Given the description of an element on the screen output the (x, y) to click on. 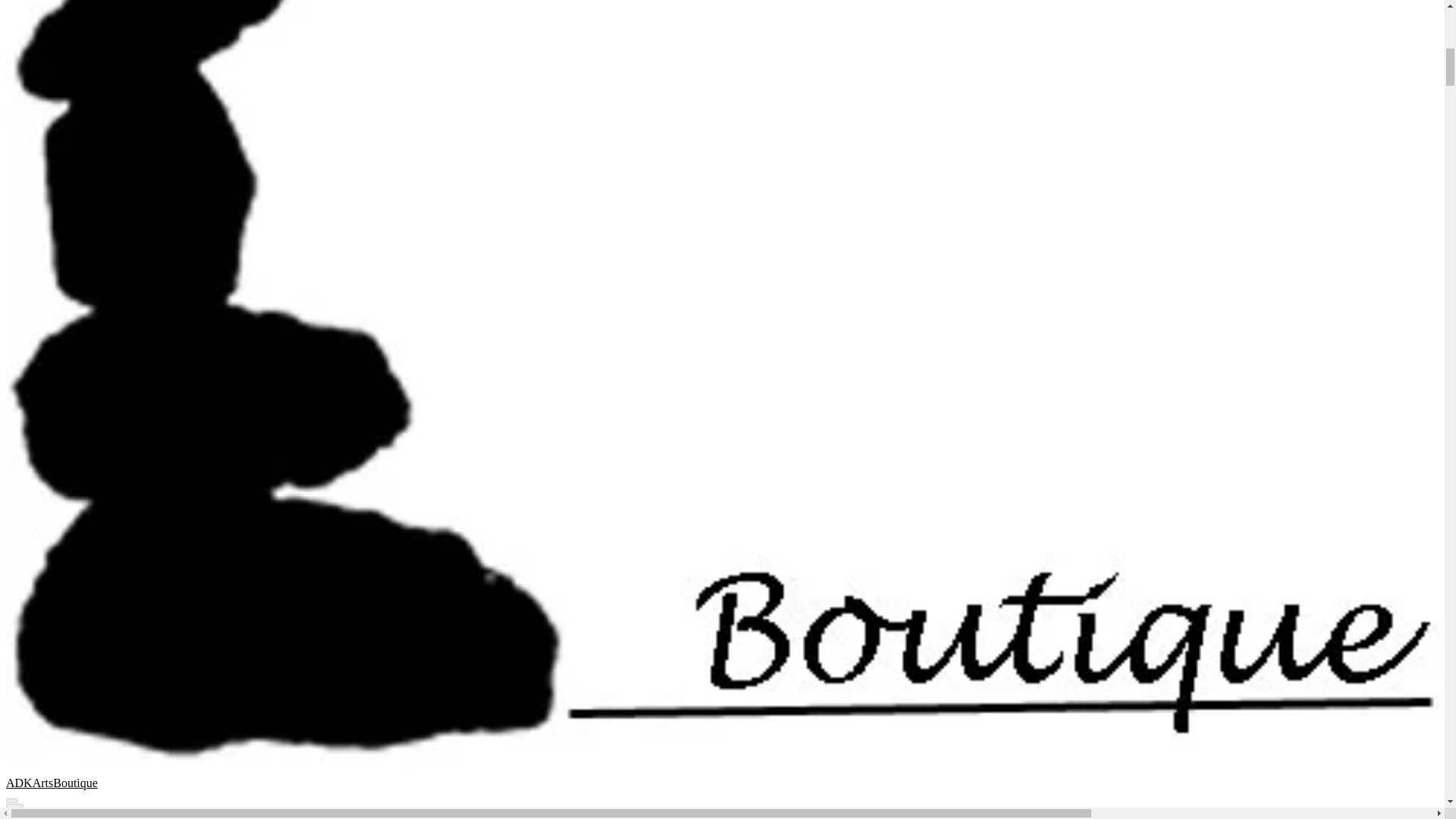
0 (14, 811)
